Given the description of an element on the screen output the (x, y) to click on. 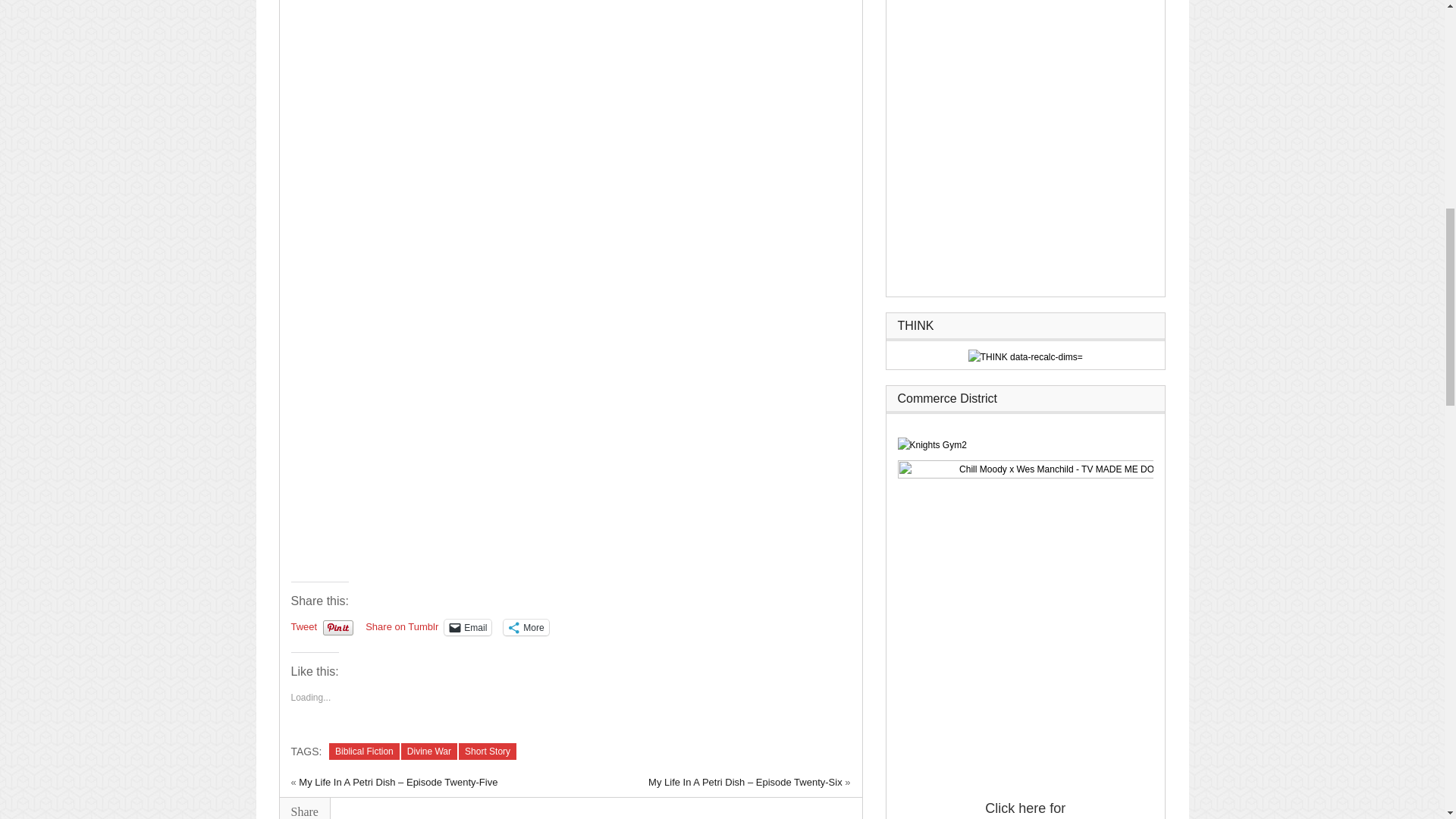
Share on Tumblr (401, 626)
Click to email a link to a friend (468, 627)
